Given the description of an element on the screen output the (x, y) to click on. 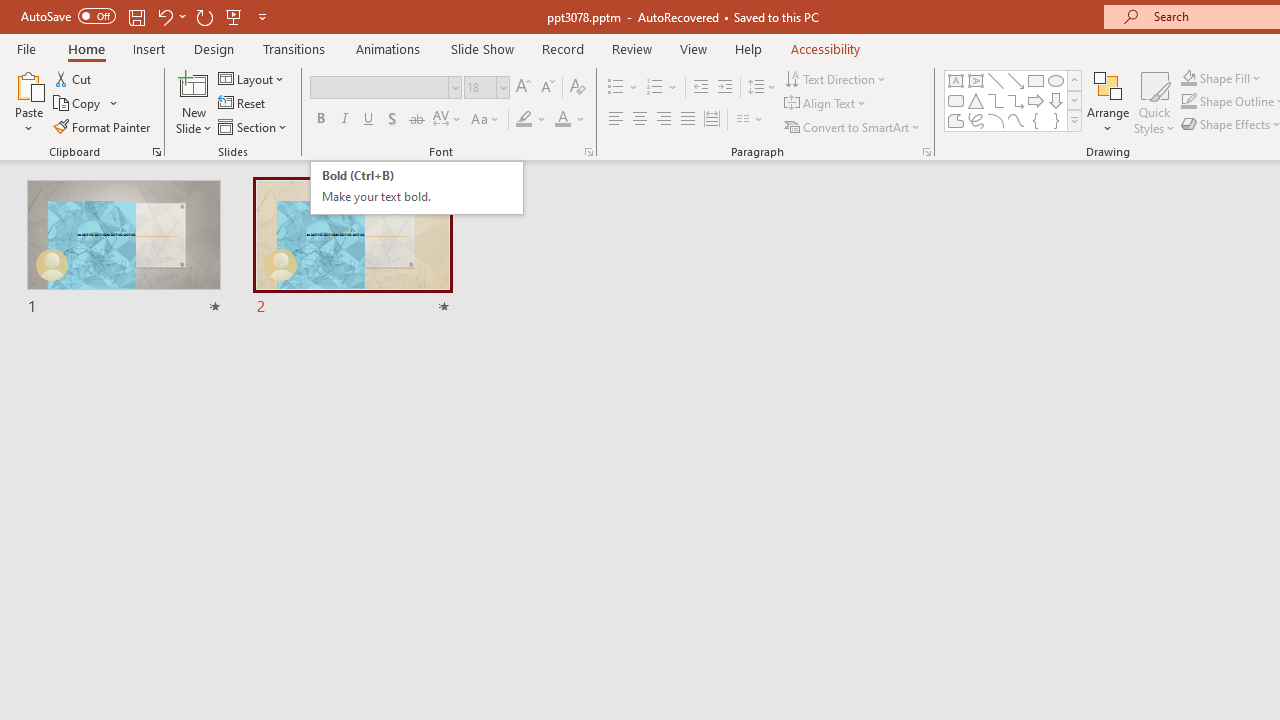
Format Painter (103, 126)
Increase Indent (725, 87)
Clear Formatting (577, 87)
Right Brace (1055, 120)
Text Highlight Color Yellow (524, 119)
Columns (750, 119)
Font... (588, 151)
Connector: Elbow (416, 188)
